Given the description of an element on the screen output the (x, y) to click on. 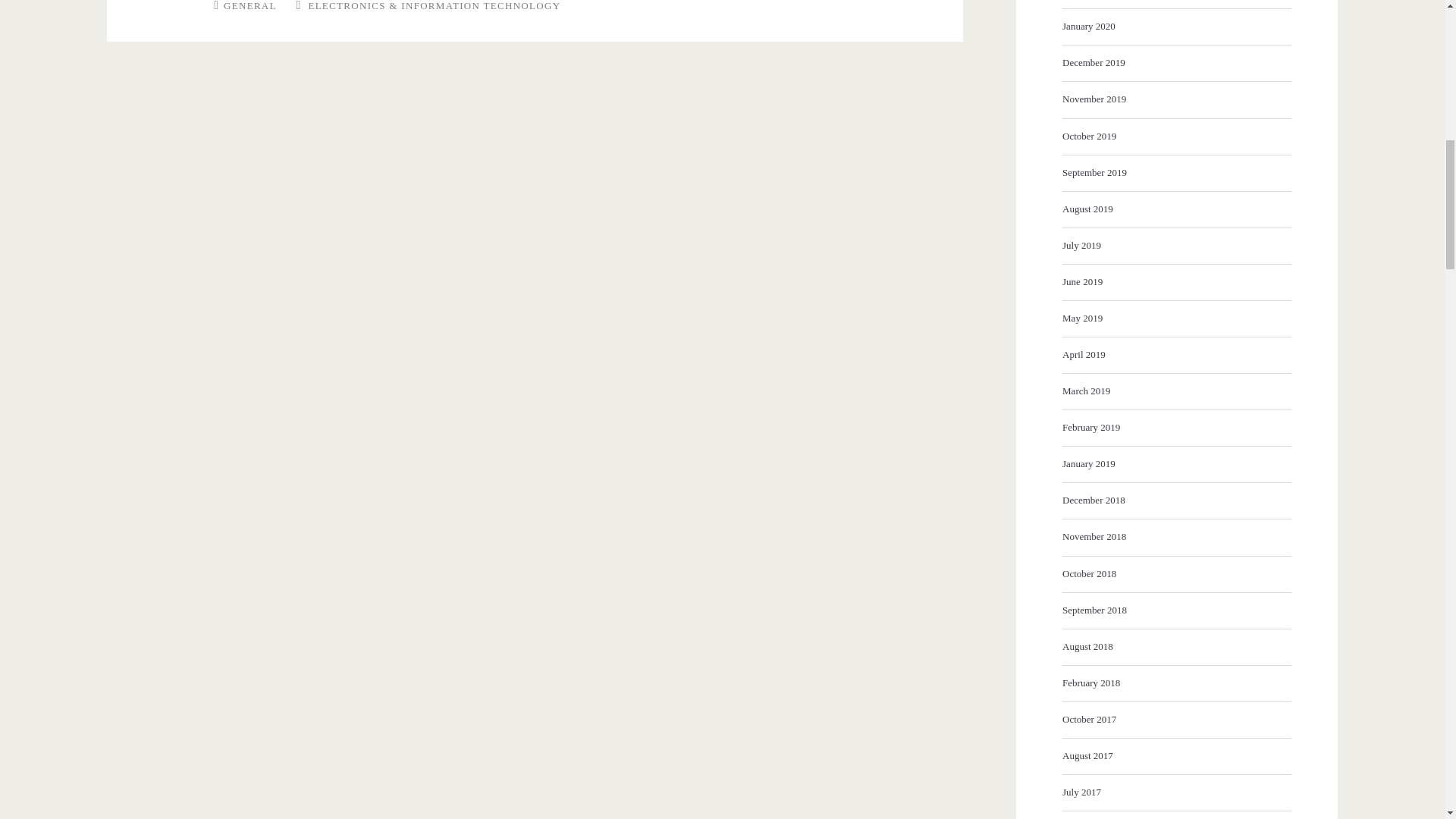
May 2019 (1174, 318)
July 2019 (1174, 245)
January 2020 (1174, 26)
April 2019 (1174, 354)
January 2019 (1174, 464)
February 2019 (1174, 427)
June 2019 (1174, 281)
November 2019 (1174, 99)
GENERAL (250, 5)
September 2019 (1174, 172)
